Given the description of an element on the screen output the (x, y) to click on. 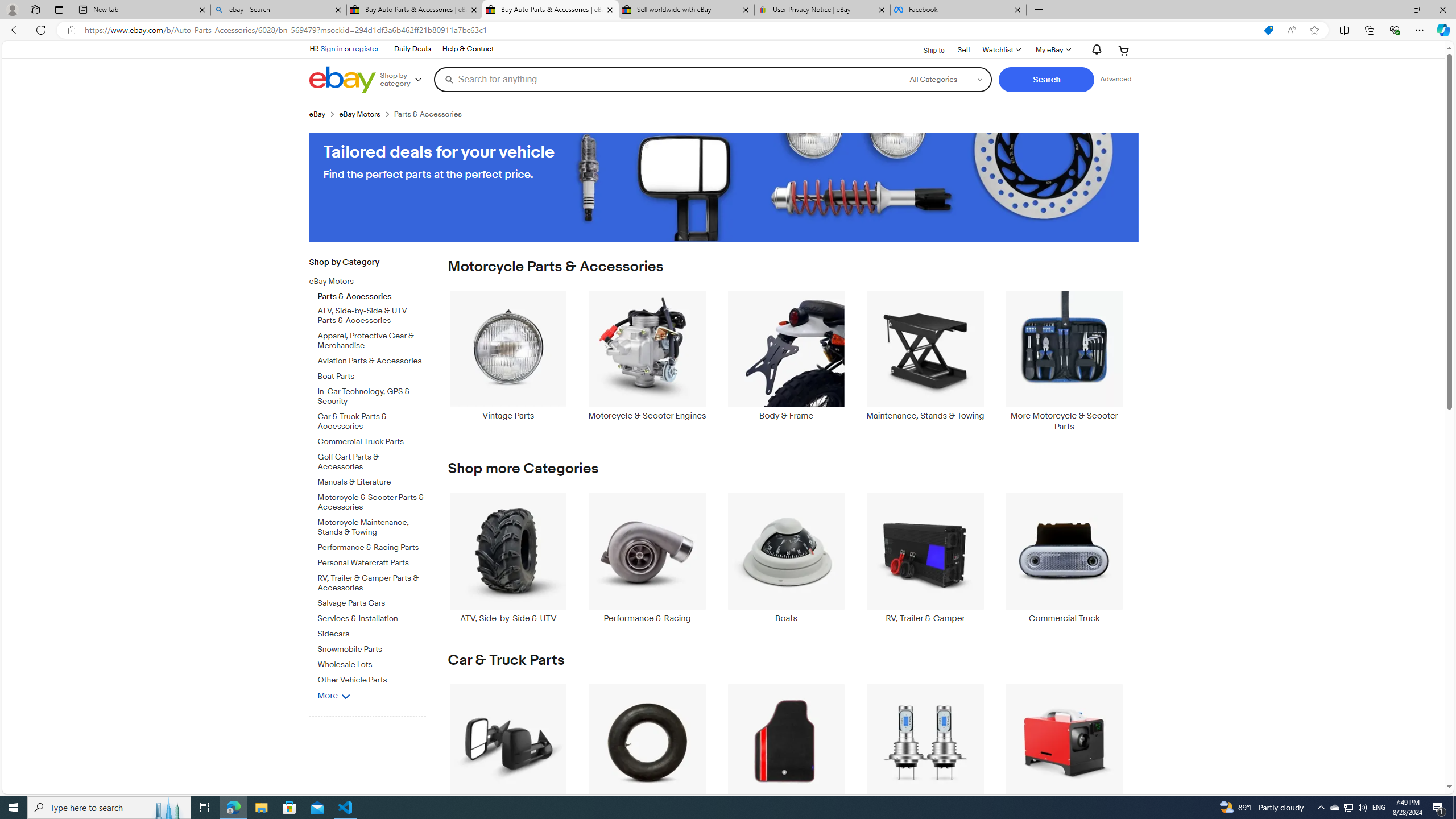
Boat Parts (371, 376)
Lighting & Lamps (925, 748)
Commercial Truck Parts (371, 441)
ATV, Side-by-Side & UTV Parts & Accessories (371, 313)
Select a category for search (945, 78)
eBay Home (341, 79)
More Motorcycle & Scooter Parts (1064, 360)
Body & Frame (786, 360)
eBay Motors (371, 279)
Aviation Parts & Accessories (371, 358)
Aviation Parts & Accessories (371, 361)
